Given the description of an element on the screen output the (x, y) to click on. 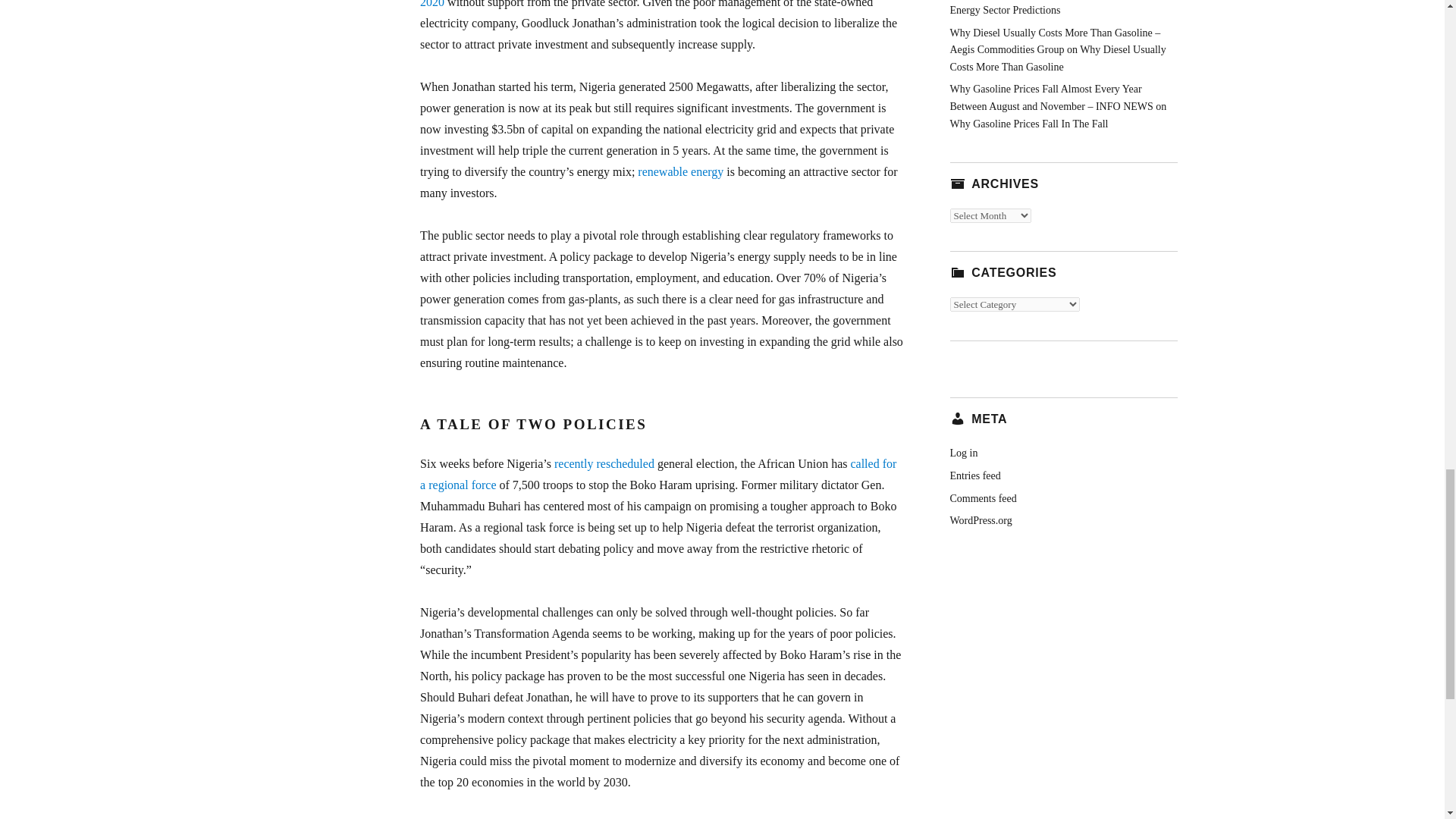
renewable energy (680, 171)
 Robert Rapier (493, 818)
called for a regional force (658, 474)
recently rescheduled (603, 463)
Facebook (675, 818)
15,000 Megawatts by 2020 (655, 4)
LinkedIn (610, 818)
